Given the description of an element on the screen output the (x, y) to click on. 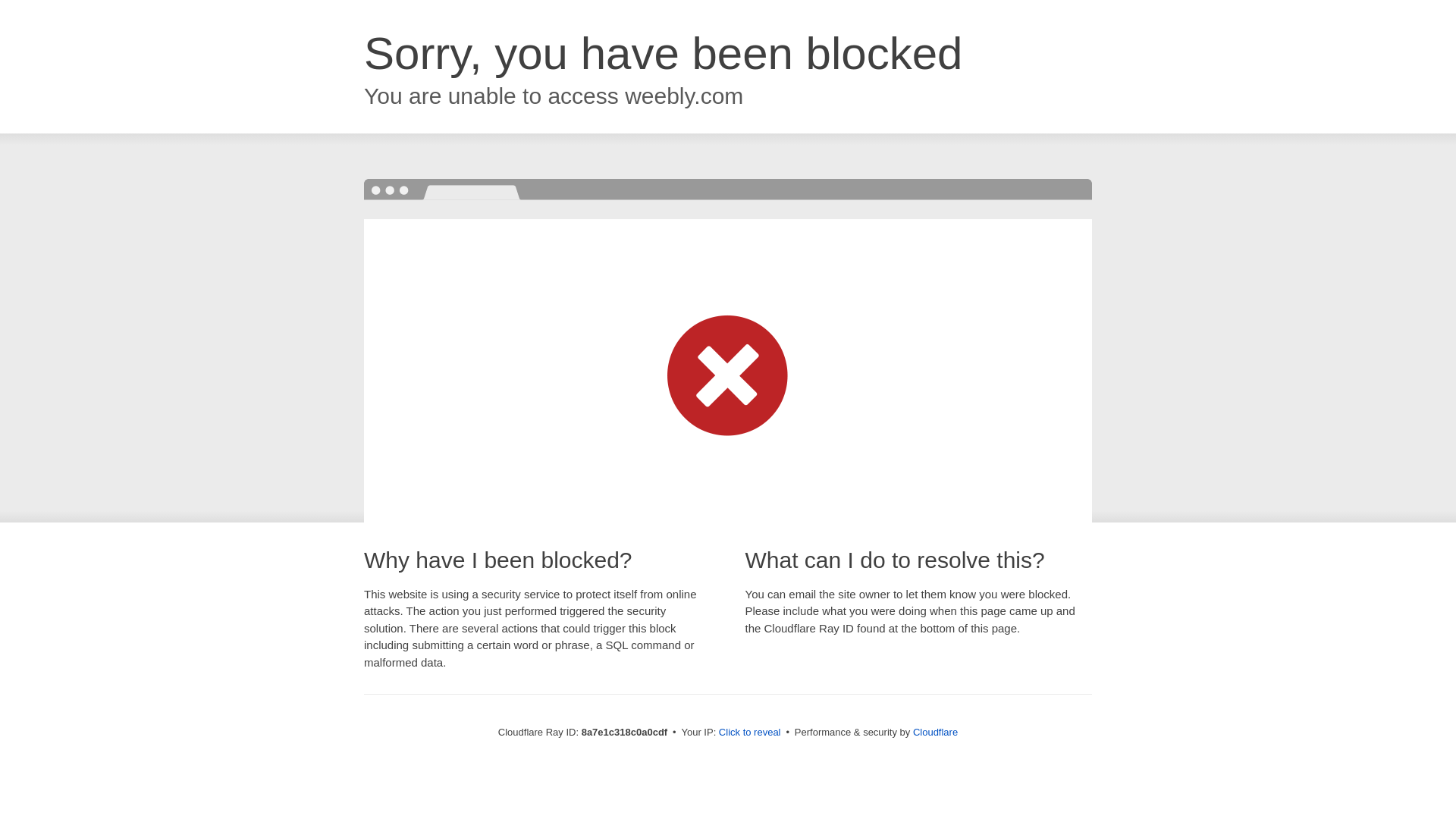
Click to reveal (749, 732)
Cloudflare (935, 731)
